Given the description of an element on the screen output the (x, y) to click on. 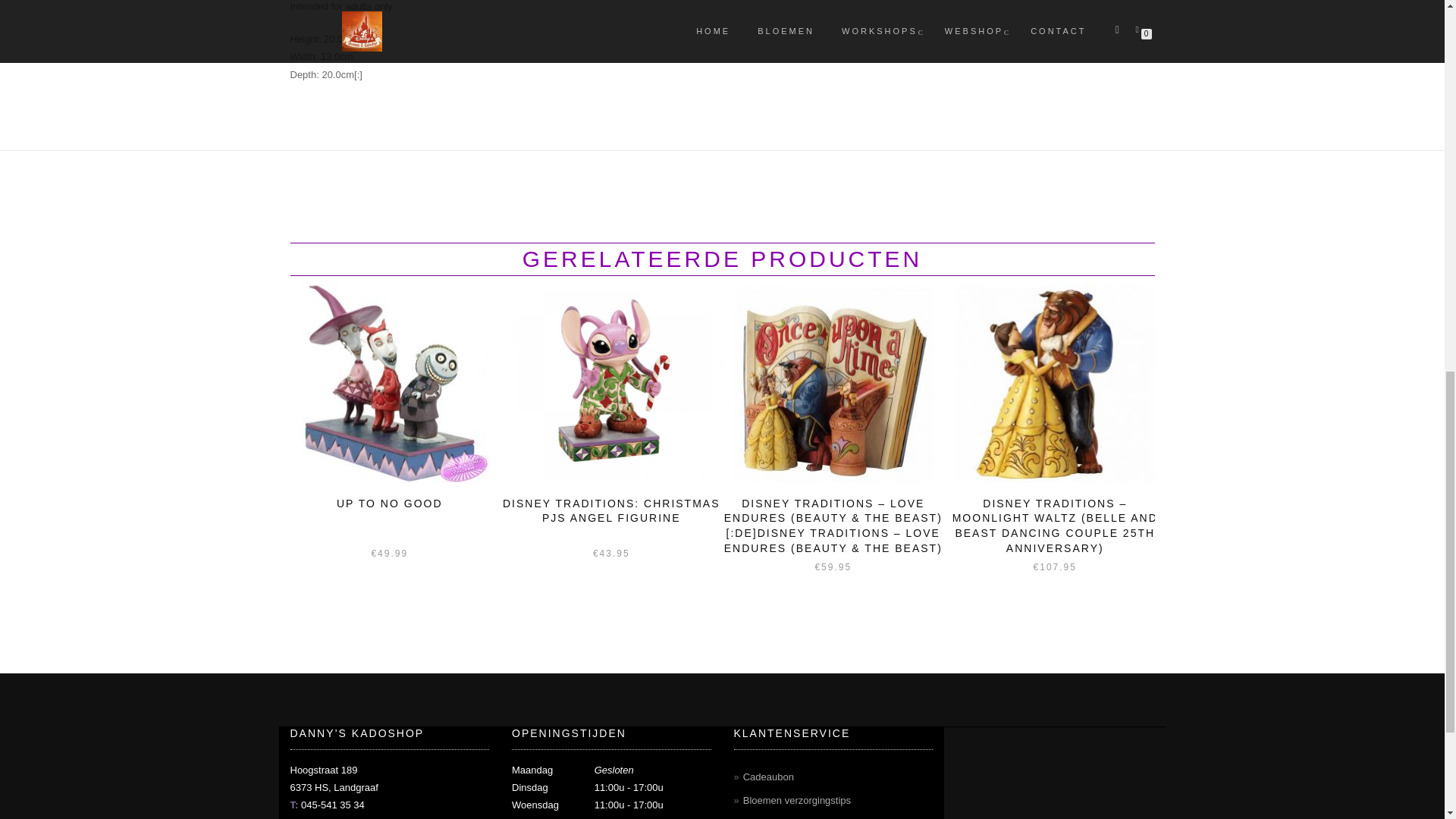
ENES6008993 (389, 383)
2667827-4049619-2-3-560 (1054, 383)
Disney Traditions: Christmas PJs Angel Figurine (611, 383)
